Given the description of an element on the screen output the (x, y) to click on. 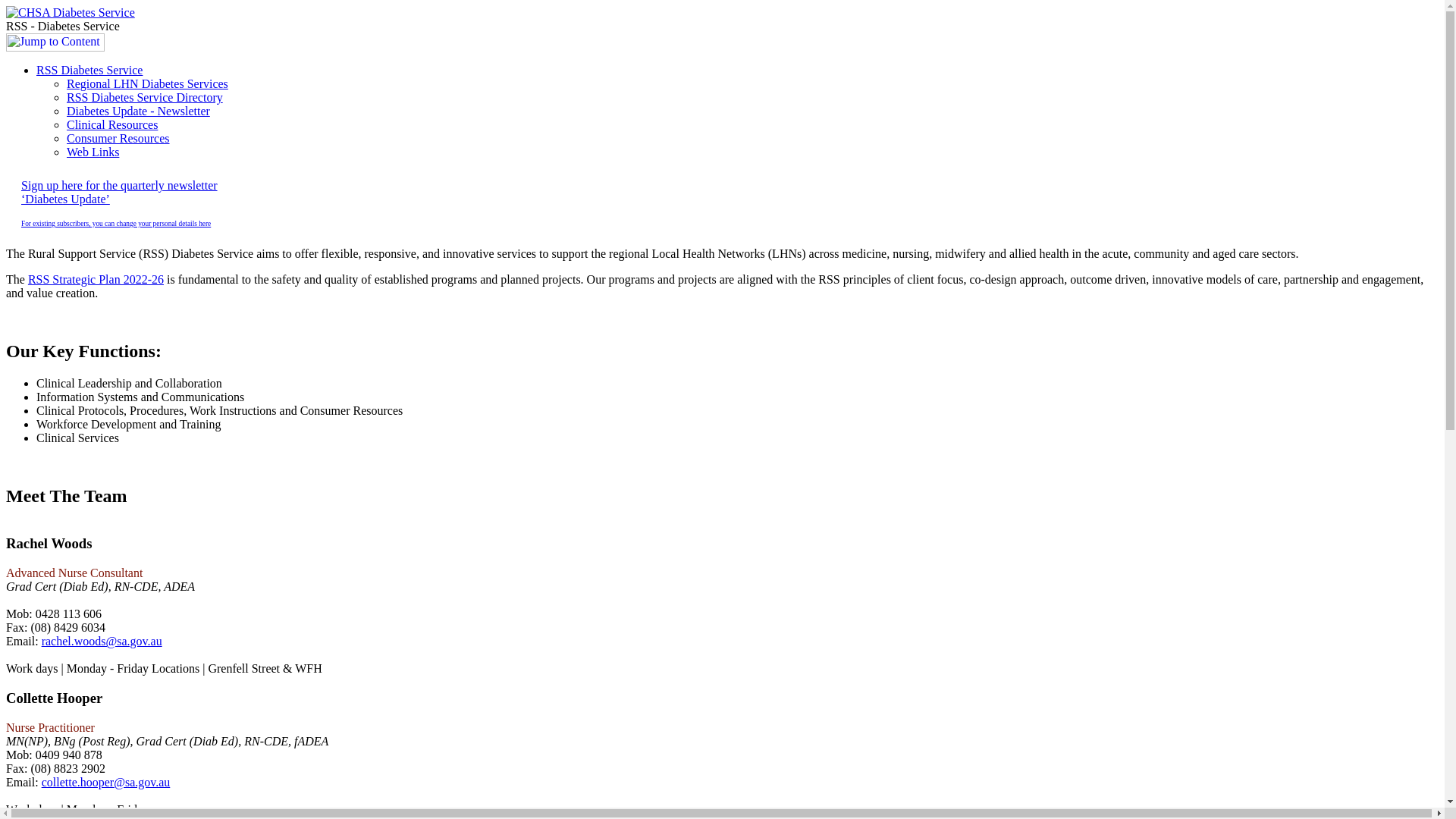
RSS Diabetes Service Element type: text (89, 69)
RSS Strategic Plan 2022-26 Element type: text (95, 279)
rachel.woods@sa.gov.au Element type: text (101, 640)
Regional LHN Diabetes Services Element type: text (147, 83)
Clinical Resources Element type: text (111, 124)
Consumer Resources Element type: text (117, 137)
collette.hooper@sa.gov.au Element type: text (105, 781)
RSS Diabetes Service Directory Element type: text (144, 97)
Diabetes Update - Newsletter Element type: text (138, 110)
Web Links Element type: text (92, 151)
